Given the description of an element on the screen output the (x, y) to click on. 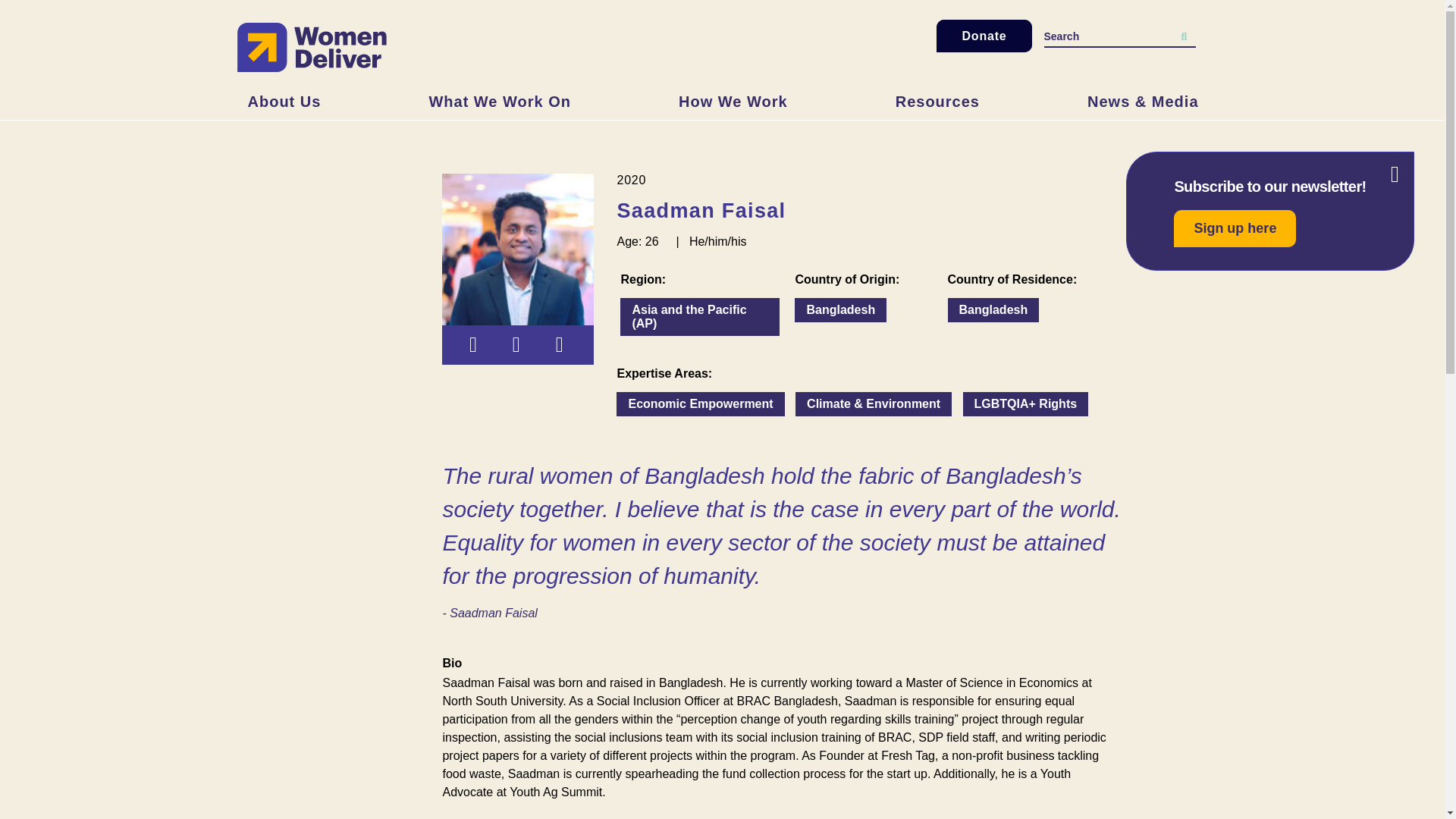
Resources (937, 101)
What We Work On (499, 101)
How We Work (732, 101)
Donate (983, 35)
About Us (284, 101)
